Given the description of an element on the screen output the (x, y) to click on. 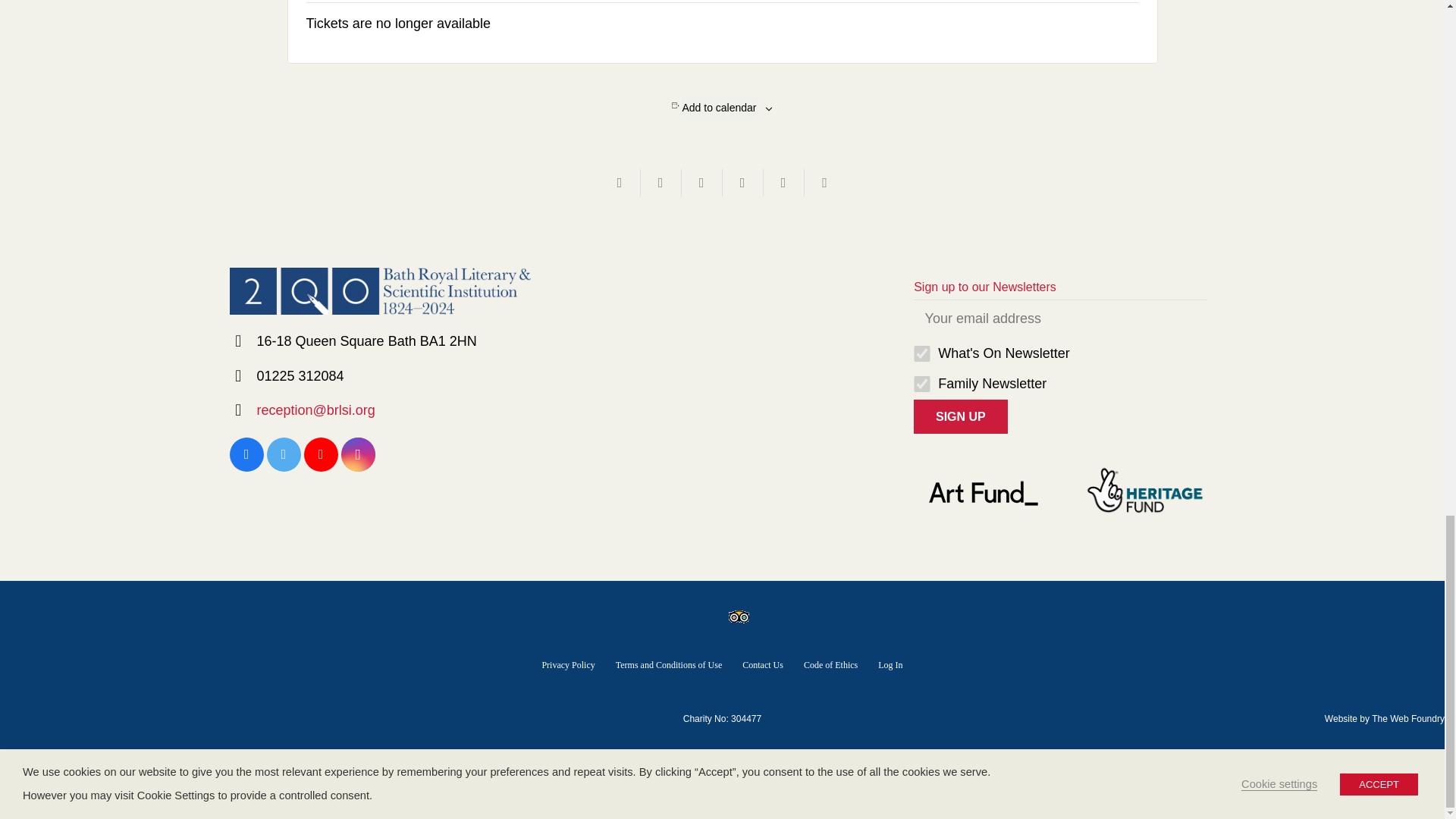
f2a11ddd3c (922, 384)
Tweet this (701, 182)
Share this (742, 182)
Share this (660, 182)
1fbba7ba0a (922, 353)
Twitter (283, 454)
Email this (619, 182)
Sign up (960, 416)
Share this (823, 182)
Pin this (782, 182)
Facebook (245, 454)
YouTube (319, 454)
